Given the description of an element on the screen output the (x, y) to click on. 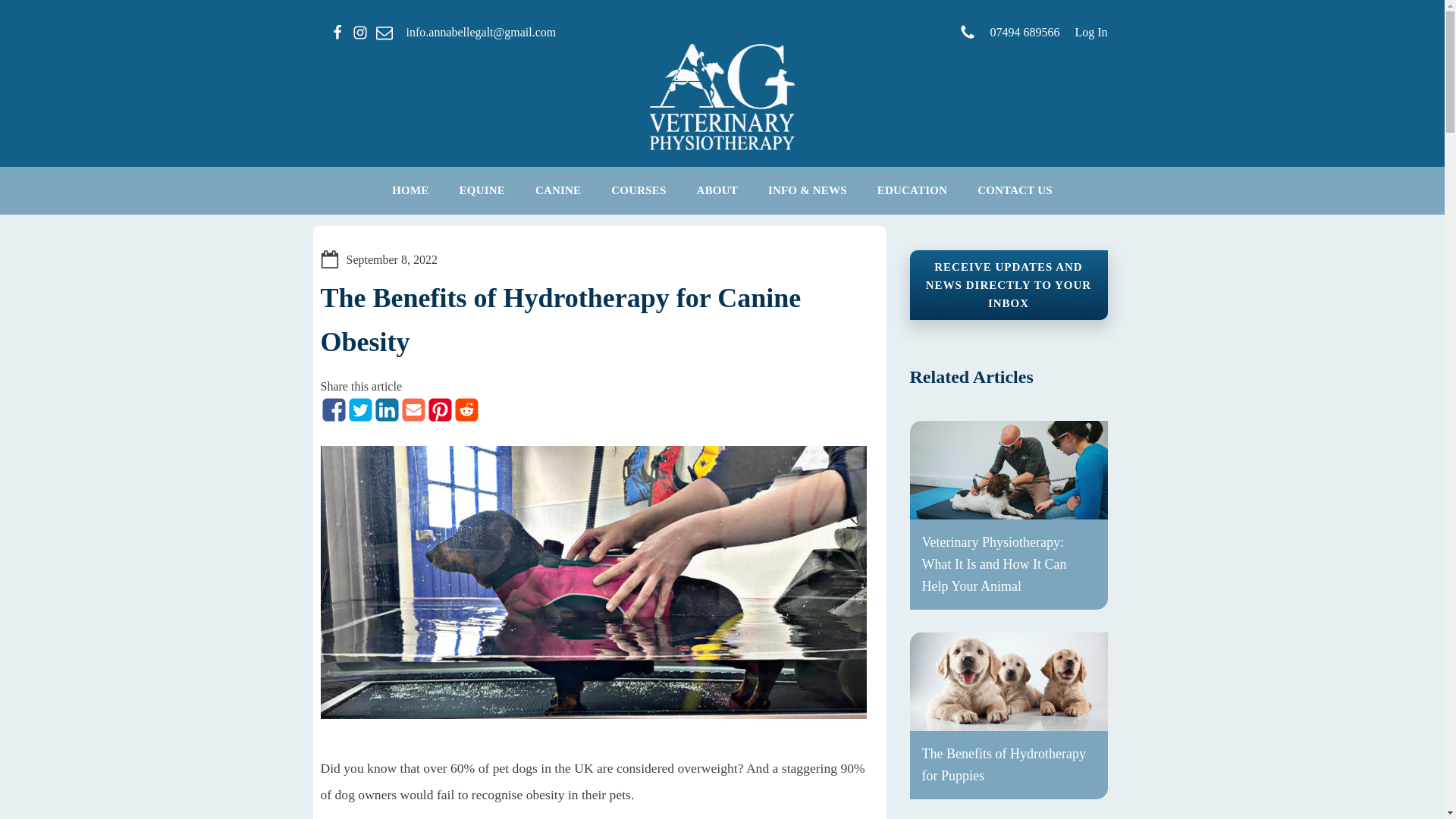
CANINE (557, 190)
COURSES (638, 190)
Log In (1090, 32)
07494 689566 (1009, 32)
CONTACT US (1014, 190)
HOME (410, 190)
ABOUT (716, 190)
EDUCATION (911, 190)
EQUINE (481, 190)
